Given the description of an element on the screen output the (x, y) to click on. 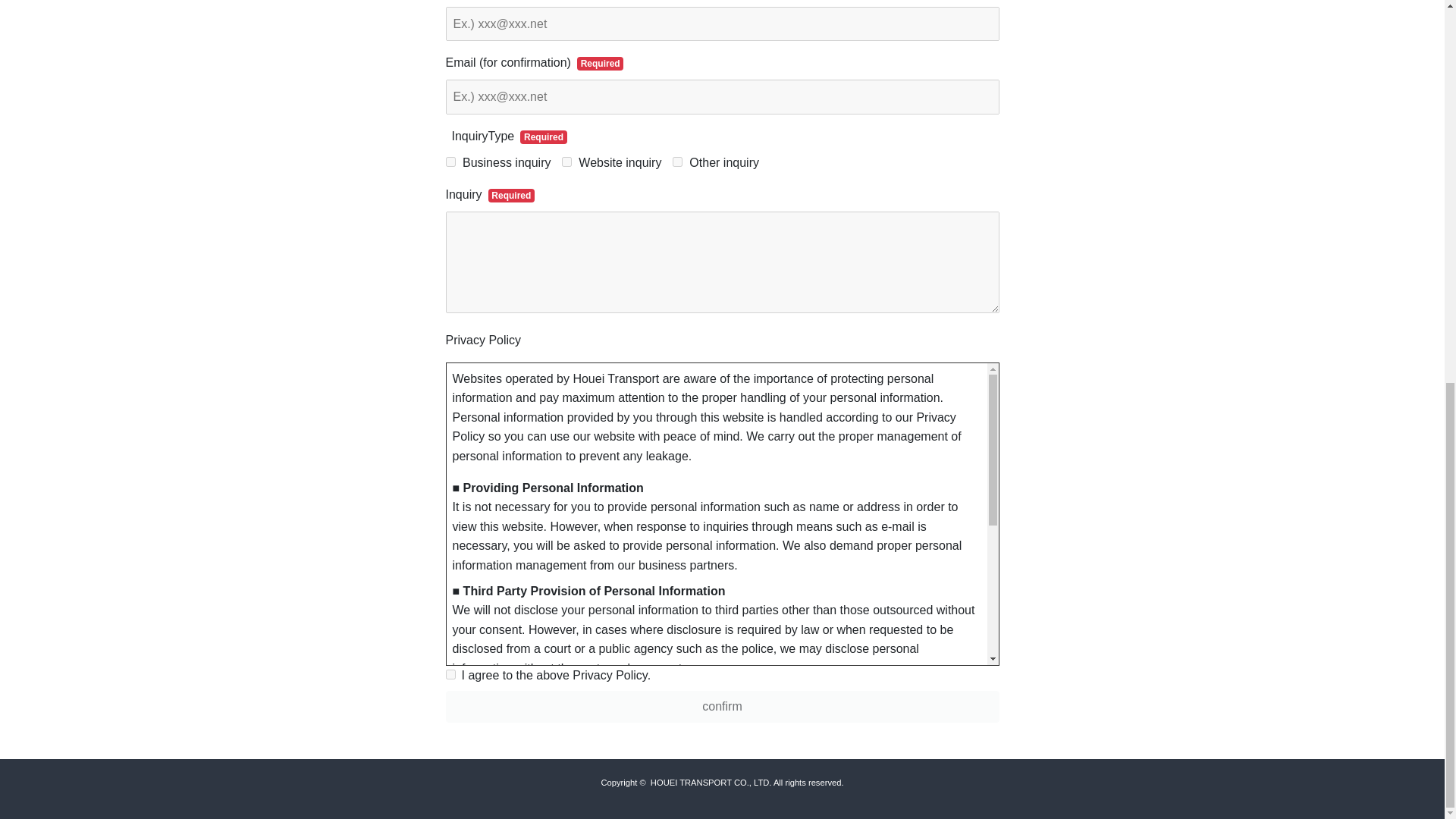
confirm (721, 706)
confirm (721, 706)
agreeBtn (450, 674)
Other inquiry (677, 162)
Website inquiry (567, 162)
Business inquiry (450, 162)
